Given the description of an element on the screen output the (x, y) to click on. 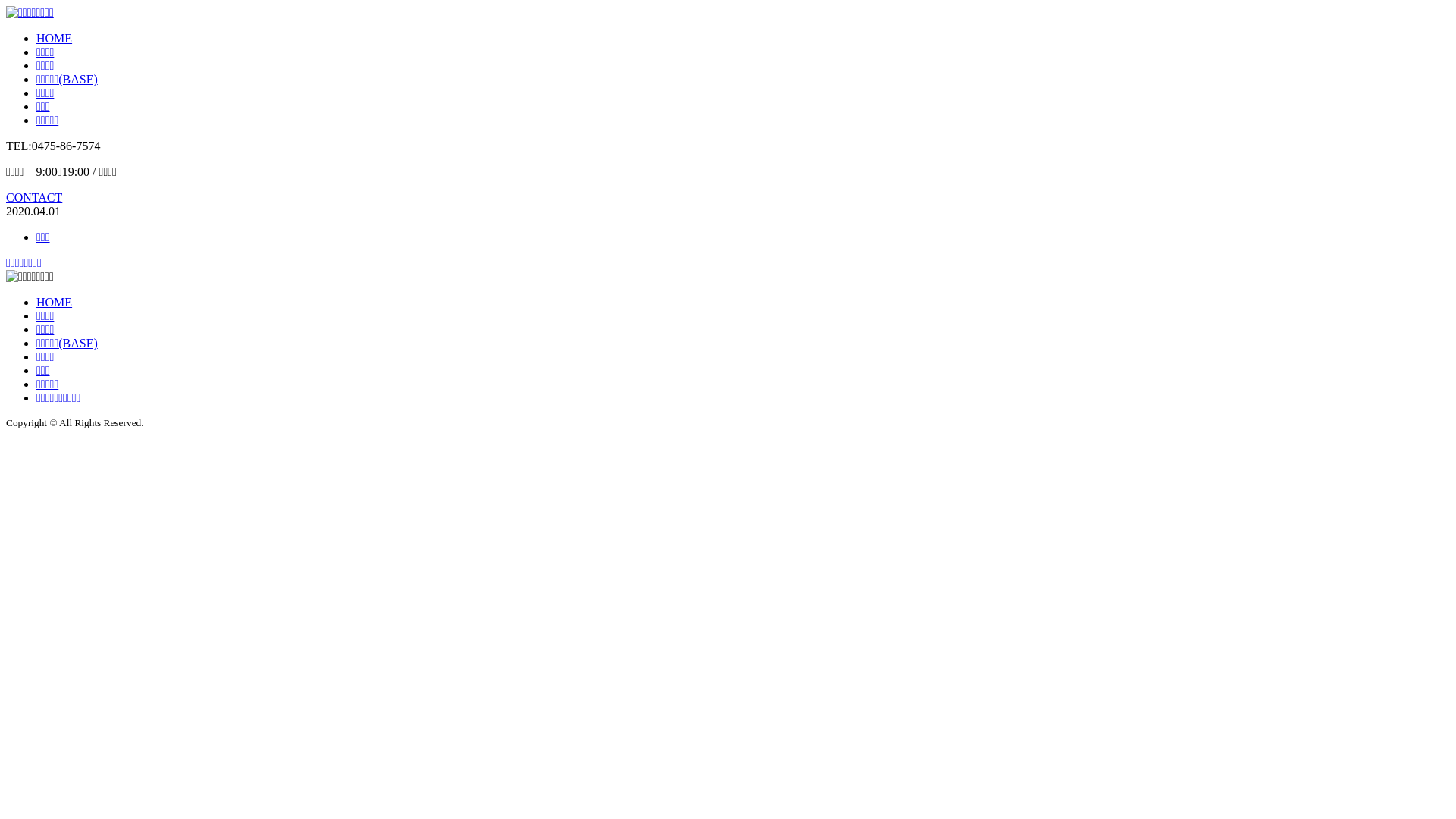
CONTACT Element type: text (34, 197)
HOME Element type: text (54, 301)
HOME Element type: text (54, 37)
